Given the description of an element on the screen output the (x, y) to click on. 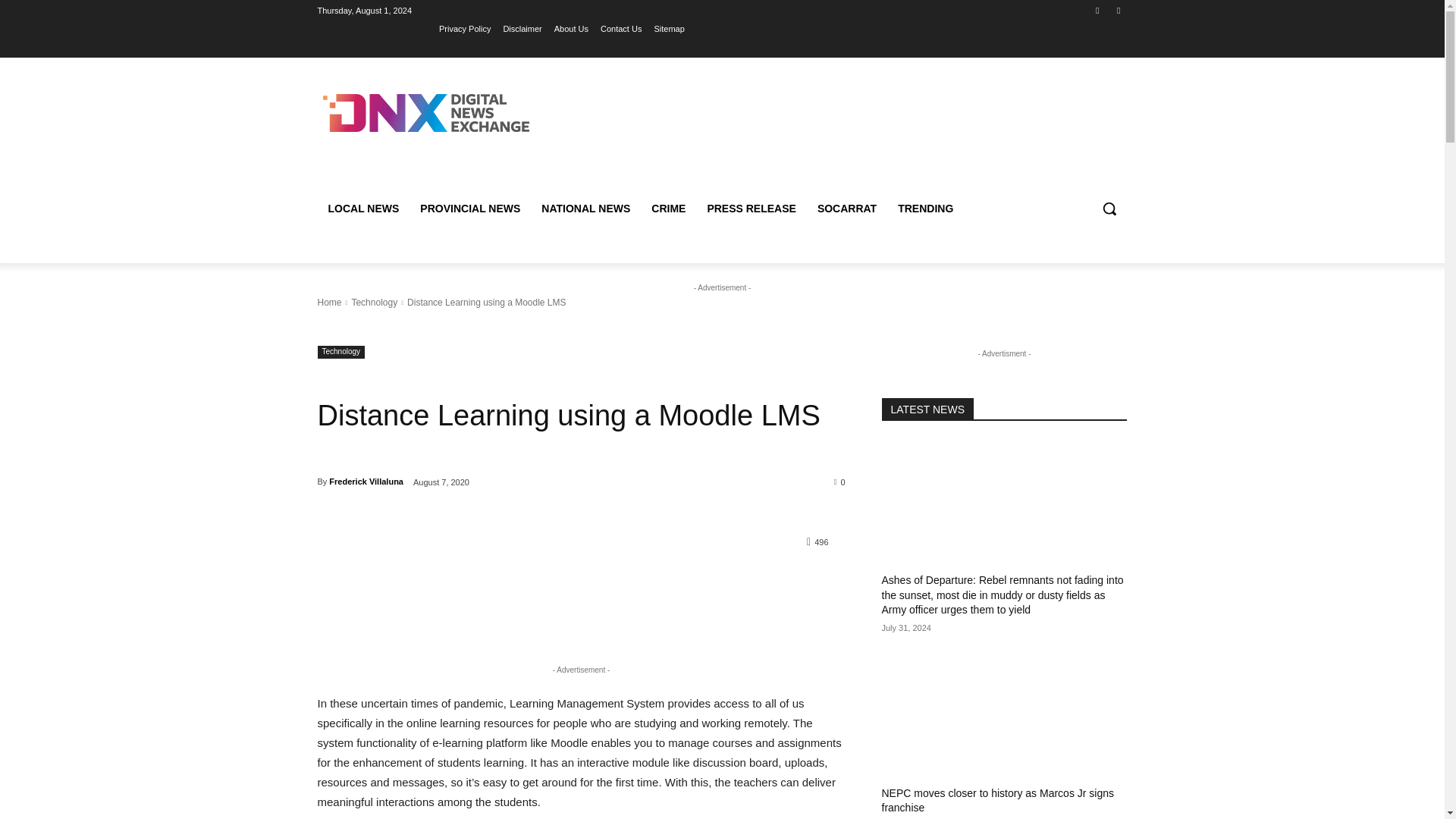
Disclaimer (521, 28)
SOCARRAT (846, 208)
Home (328, 302)
Sitemap (668, 28)
Technology (341, 351)
LOCAL NEWS (363, 208)
View all posts in Technology (373, 302)
Frederick Villaluna (366, 481)
Technology (373, 302)
About Us (571, 28)
Contact Us (620, 28)
Privacy Policy (464, 28)
0 (839, 481)
TRENDING (924, 208)
